Given the description of an element on the screen output the (x, y) to click on. 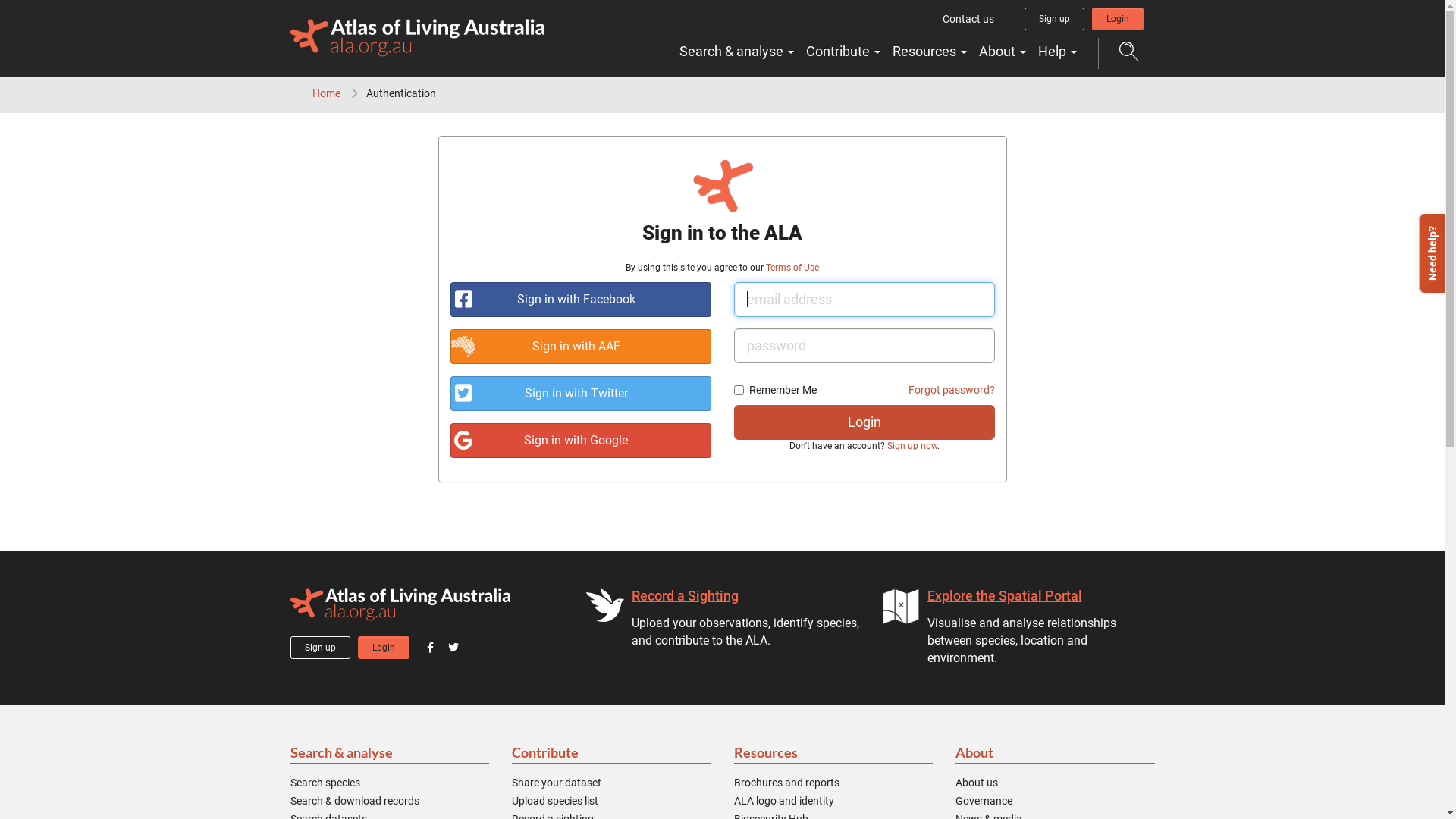
About Element type: text (1054, 753)
Sign up now Element type: text (912, 445)
Contact us Element type: text (968, 18)
About Element type: text (1001, 51)
Brochures and reports Element type: text (786, 782)
About us Element type: text (976, 782)
Home Element type: text (326, 93)
Forgot password? Element type: text (951, 389)
Help Element type: text (1056, 51)
Search & download records Element type: text (353, 800)
Share your dataset Element type: text (556, 782)
Search species Element type: text (324, 782)
Sign up Element type: text (319, 647)
Explore the Spatial Portal Element type: text (1003, 595)
Sign in with AAF Element type: text (580, 346)
Sign in with Google Element type: text (580, 440)
Login Element type: text (1117, 18)
Sign in with Facebook Element type: text (580, 299)
Contribute Element type: text (611, 753)
Upload species list Element type: text (554, 800)
Sign up Element type: text (1053, 18)
Resources Element type: text (833, 753)
Search & analyse Element type: text (736, 51)
Resources Element type: text (928, 51)
Governance Element type: text (983, 800)
ALA logo and identity Element type: text (784, 800)
Sign in with Twitter Element type: text (580, 393)
Contribute Element type: text (842, 51)
Login Element type: text (383, 647)
Search & analyse Element type: text (389, 753)
Login Element type: text (864, 421)
Record a Sighting Element type: text (683, 595)
Terms of Use Element type: text (792, 267)
